Given the description of an element on the screen output the (x, y) to click on. 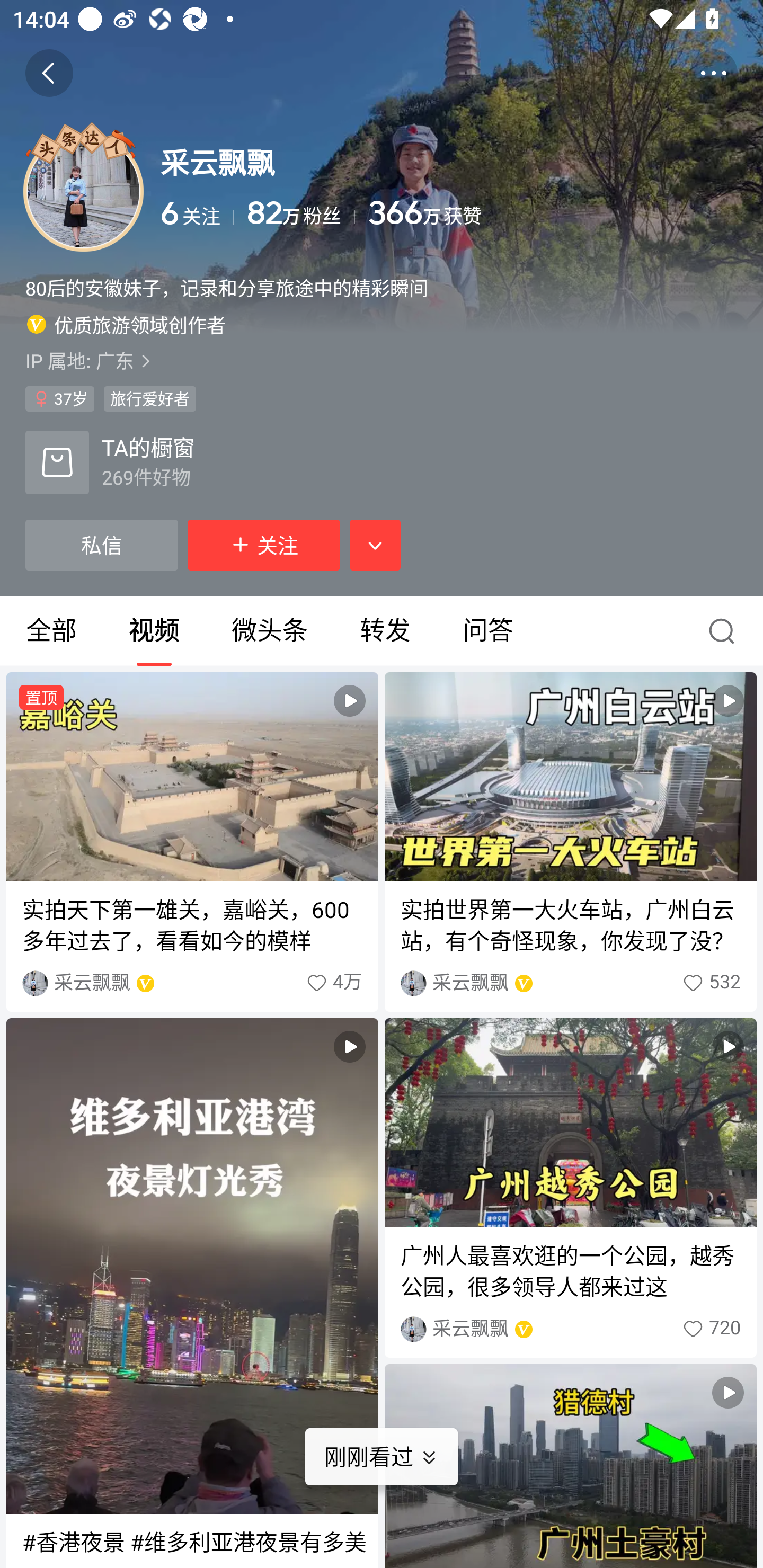
返回 (49, 72)
更多操作 (713, 72)
头像 (83, 191)
6 关注 (197, 213)
82万 粉丝 (300, 213)
366万 获赞 (552, 213)
优质旅游领域创作者 (125, 324)
IP 属地: 广东 (381, 360)
性别女，年龄37岁 37岁 (59, 397)
旅行爱好者 (149, 397)
它的橱窗, 269件好物, 按钮 TA的橱窗 269件好物 (110, 462)
私信 (101, 544)
     关注 (263, 544)
     关注 (263, 544)
展开相关推荐，按钮 (374, 544)
全部 (51, 630)
视频 (154, 630)
微头条 (269, 630)
转发 (385, 630)
问答 (487, 630)
搜索 (726, 630)
视频 #香港夜景 #维多利亚港夜景有多美  (192, 1292)
视频 (570, 1466)
刚刚看过 (393, 1456)
